Given the description of an element on the screen output the (x, y) to click on. 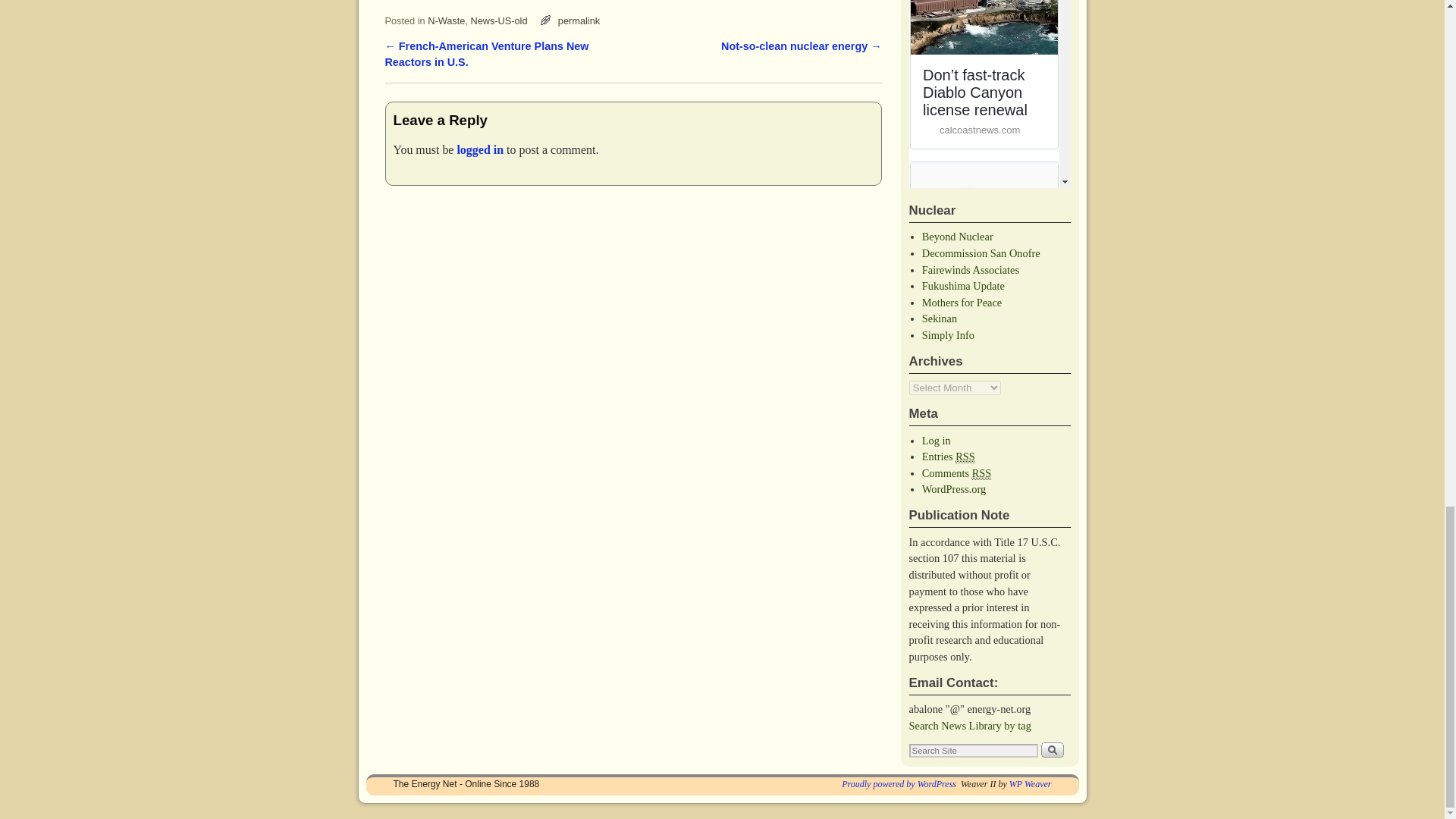
wordpress.org (898, 783)
Permalink to DOE considers N.M. for nuclear waste disposal (578, 20)
Really Simple Syndication (965, 456)
World Reports on Fukushima  (938, 318)
Really Simple Syndication (981, 472)
